Given the description of an element on the screen output the (x, y) to click on. 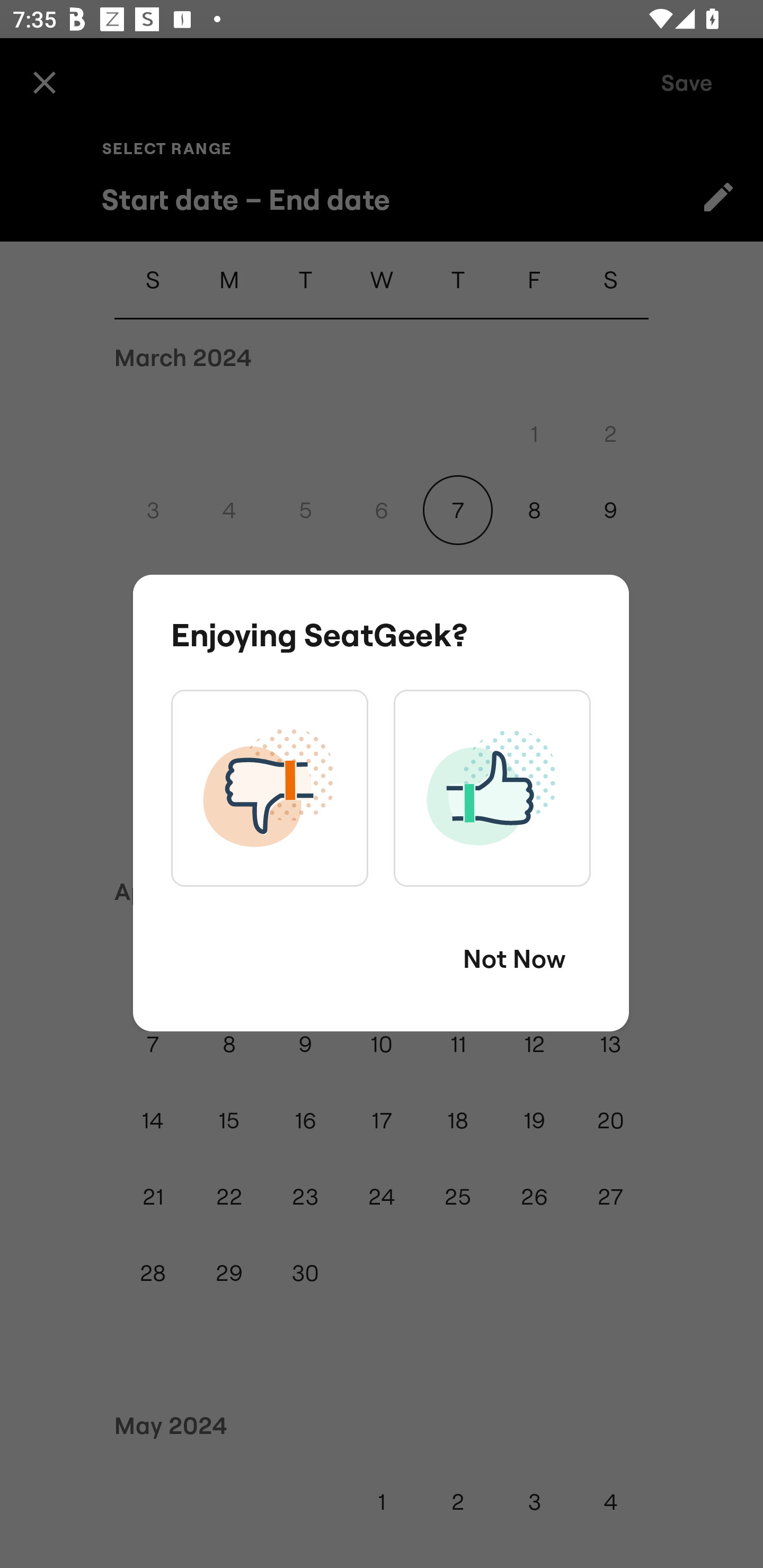
Not Now (513, 959)
